Given the description of an element on the screen output the (x, y) to click on. 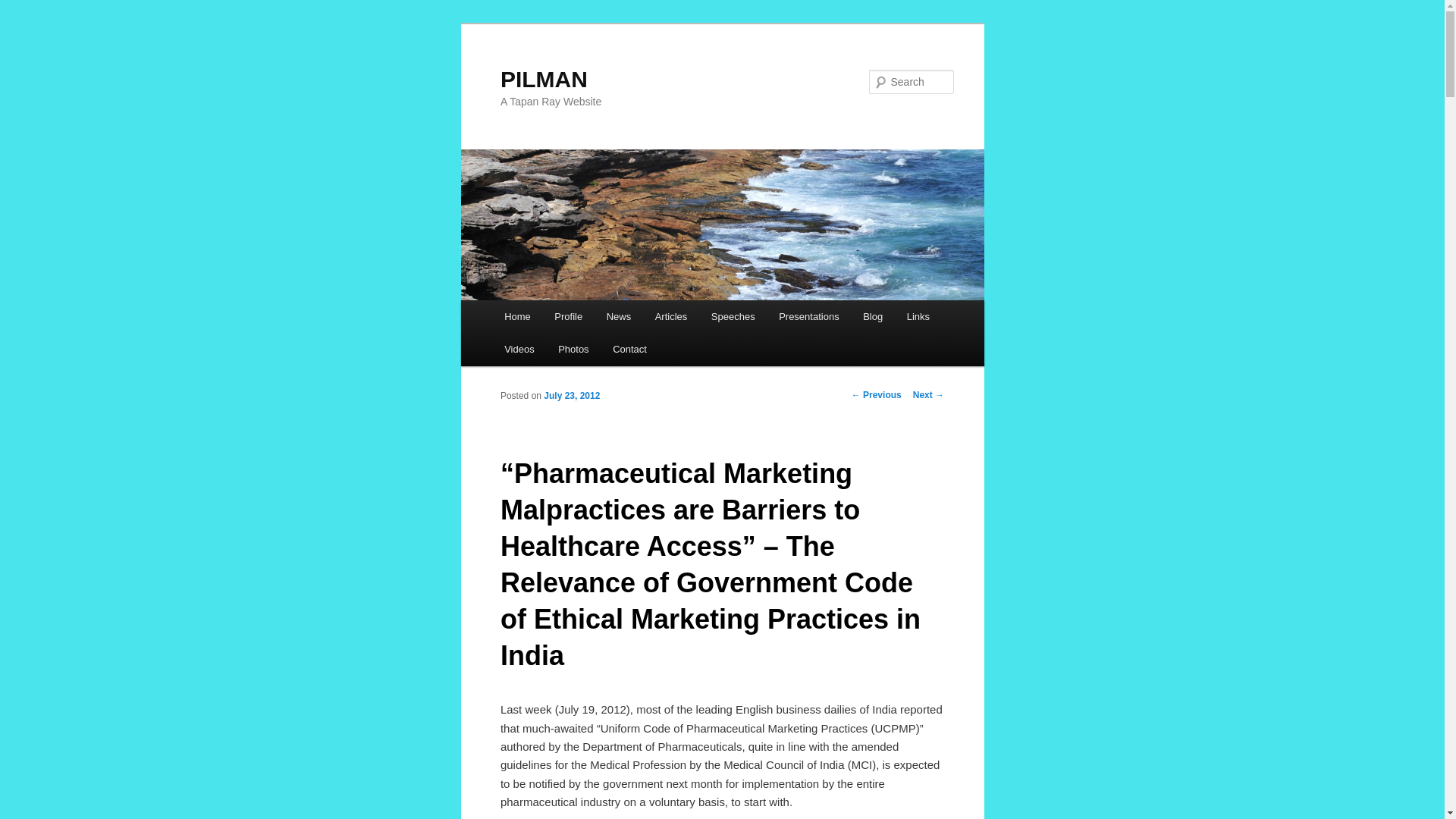
Profile (568, 316)
Search (24, 8)
Skip to primary content (572, 319)
PILMAN (544, 78)
Photos (572, 348)
Skip to secondary content (579, 319)
Speeches (732, 316)
Links (918, 316)
Skip to secondary content (579, 319)
Skip to primary content (572, 319)
